Given the description of an element on the screen output the (x, y) to click on. 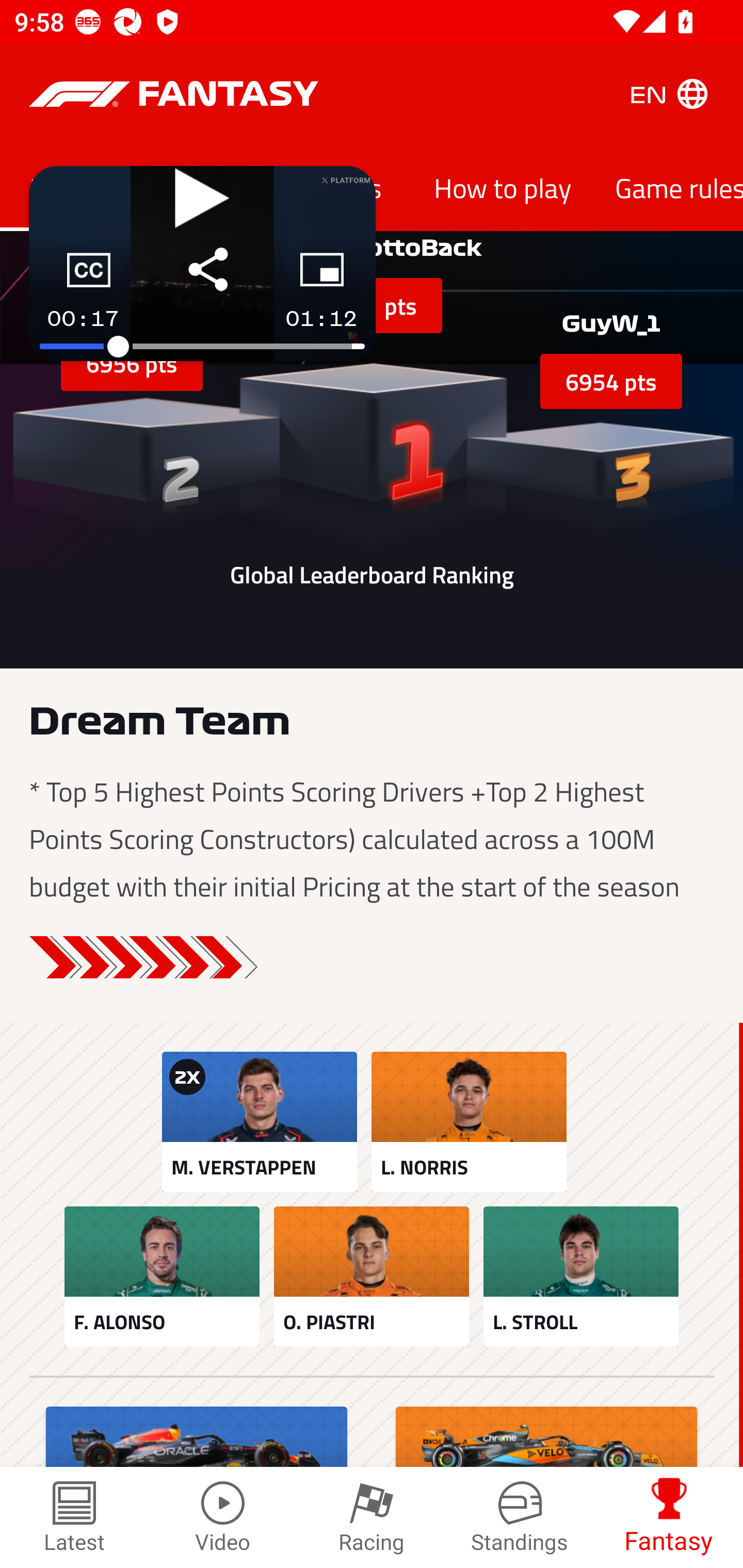
How to play (502, 187)
Game rules (668, 187)
2X M. VERSTAPPEN (259, 1121)
L. NORRIS (468, 1121)
F. ALONSO (161, 1275)
O. PIASTRI (371, 1275)
L. STROLL (580, 1275)
Latest (74, 1517)
Video (222, 1517)
Racing (371, 1517)
Standings (519, 1517)
